Given the description of an element on the screen output the (x, y) to click on. 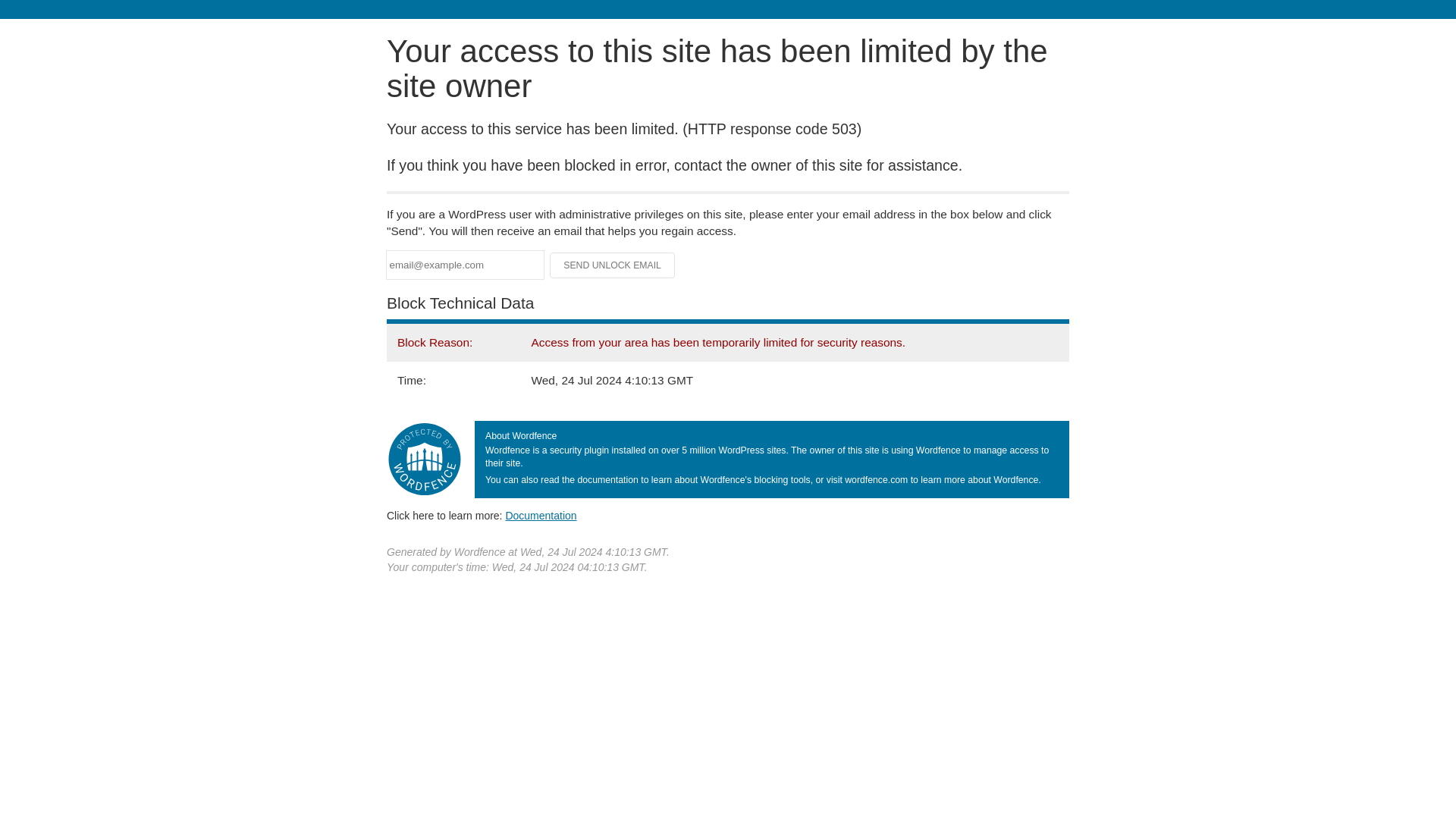
Send Unlock Email (612, 265)
Send Unlock Email (612, 265)
Documentation (540, 515)
